Given the description of an element on the screen output the (x, y) to click on. 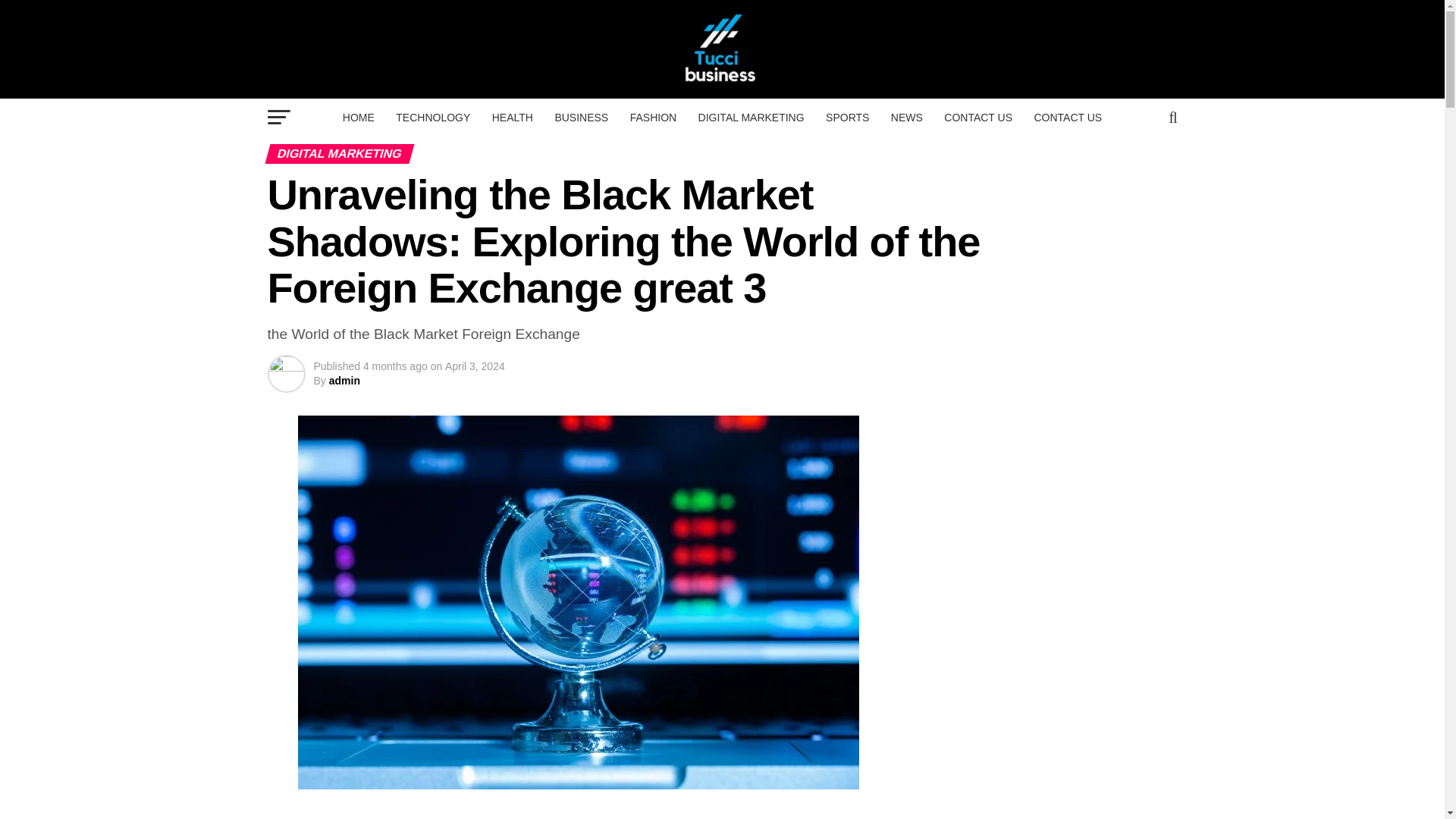
HOME (358, 117)
FASHION (653, 117)
TECHNOLOGY (433, 117)
BUSINESS (580, 117)
HEALTH (512, 117)
SPORTS (846, 117)
Posts by admin (344, 380)
DIGITAL MARKETING (750, 117)
